Given the description of an element on the screen output the (x, y) to click on. 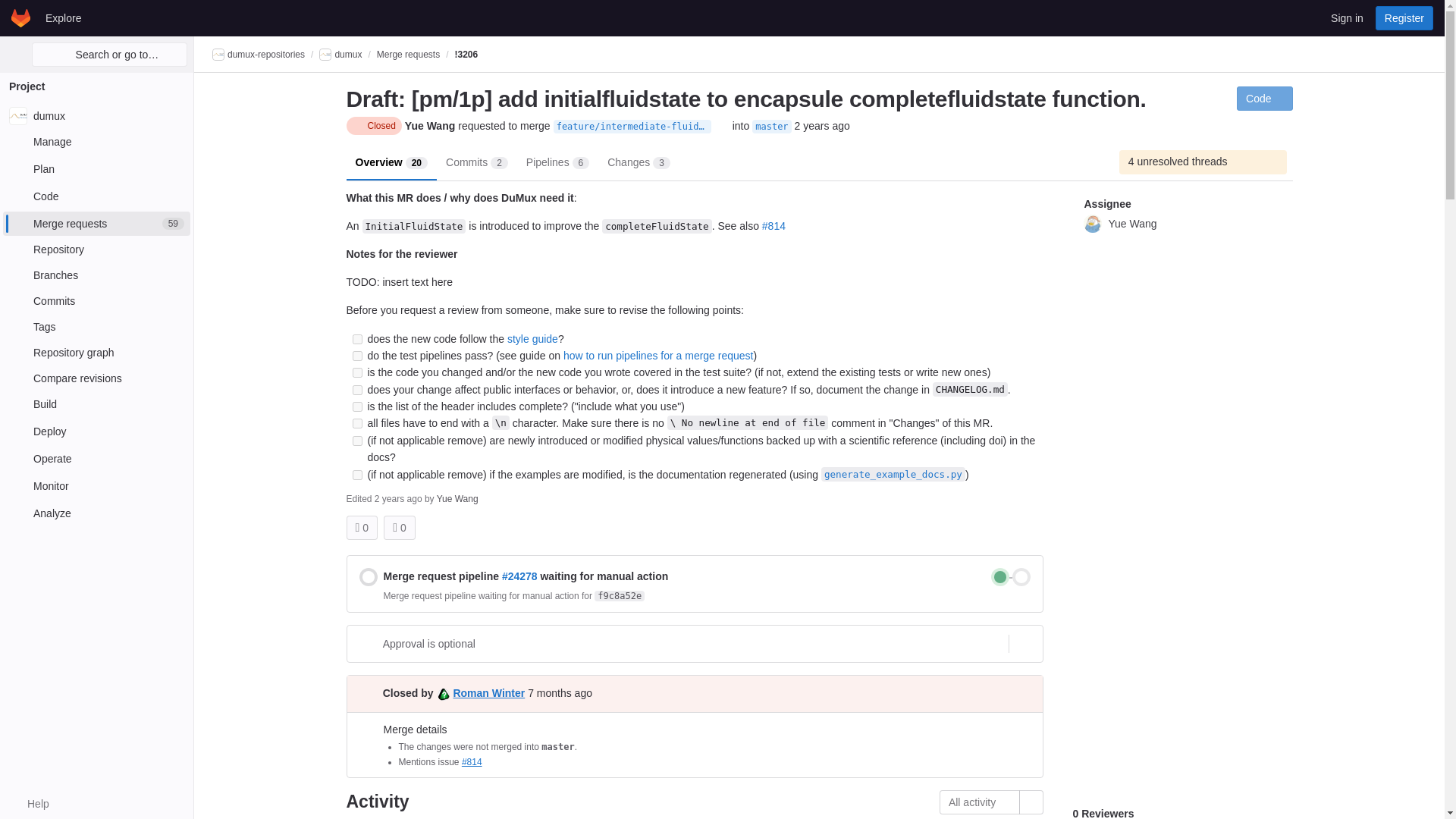
Code (96, 196)
check-status: passed (1000, 577)
Operate (96, 458)
Sign in (1347, 17)
Analyze (96, 223)
on (96, 513)
Manage (356, 338)
on (96, 141)
Deploy (356, 440)
Build (96, 431)
Plan (96, 404)
on (96, 168)
Compare revisions (356, 474)
on (96, 378)
